Given the description of an element on the screen output the (x, y) to click on. 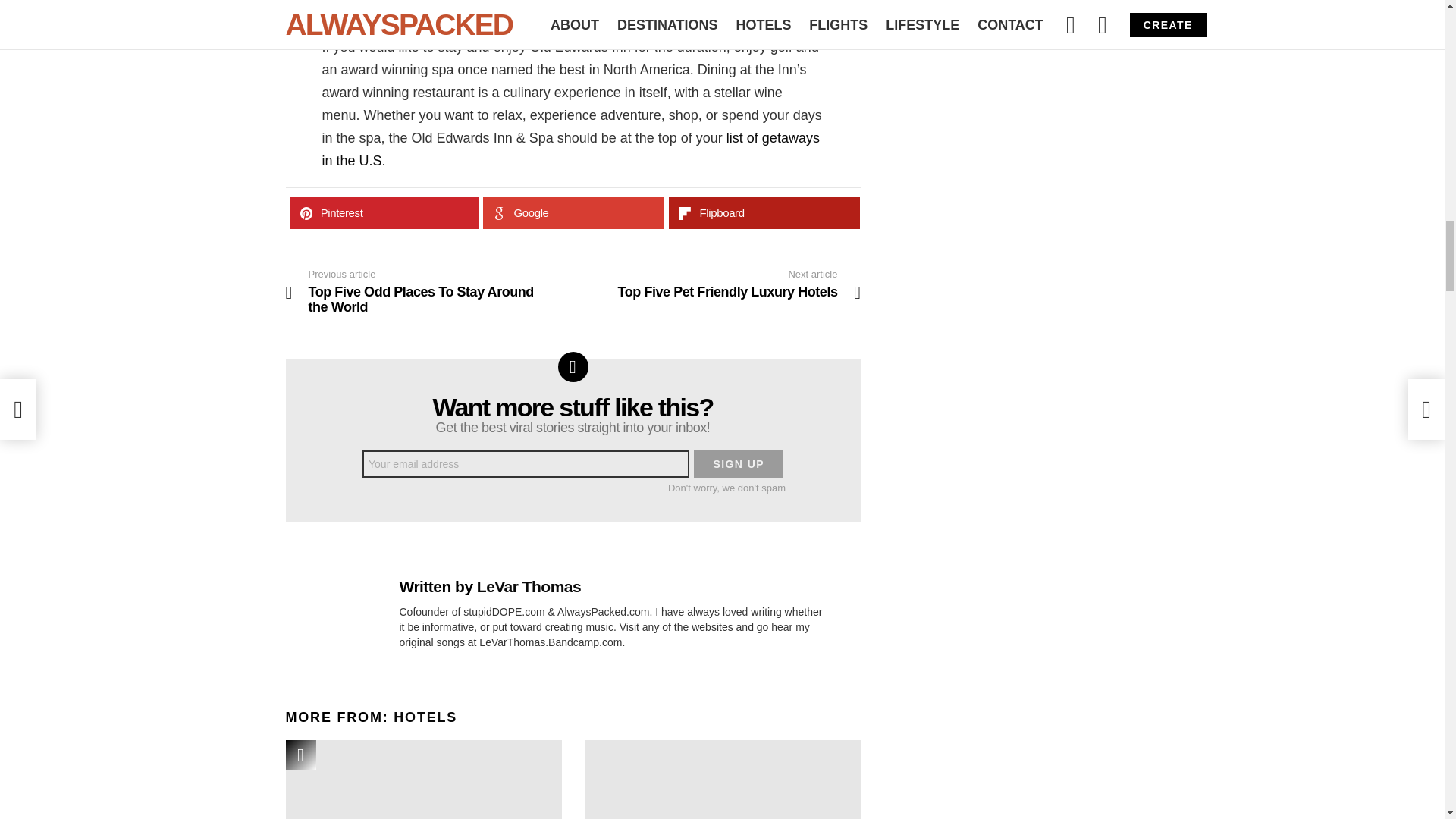
Discover Summer Paradise In Europe (422, 779)
Hot (300, 755)
Sign up (738, 463)
